Given the description of an element on the screen output the (x, y) to click on. 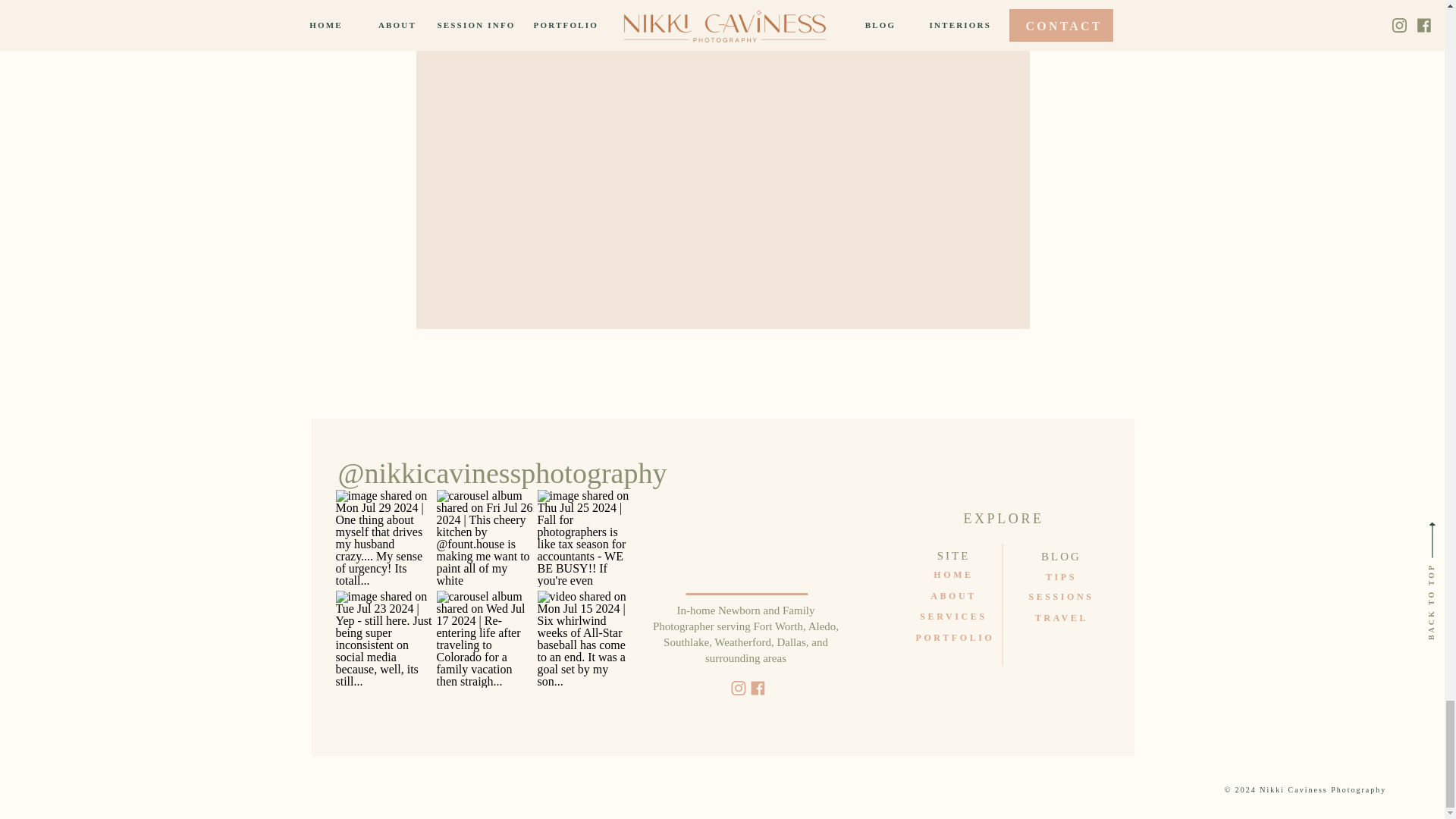
Instagram-color Created with Sketch. (737, 687)
Facebook Copy-color Created with Sketch. (758, 688)
